Given the description of an element on the screen output the (x, y) to click on. 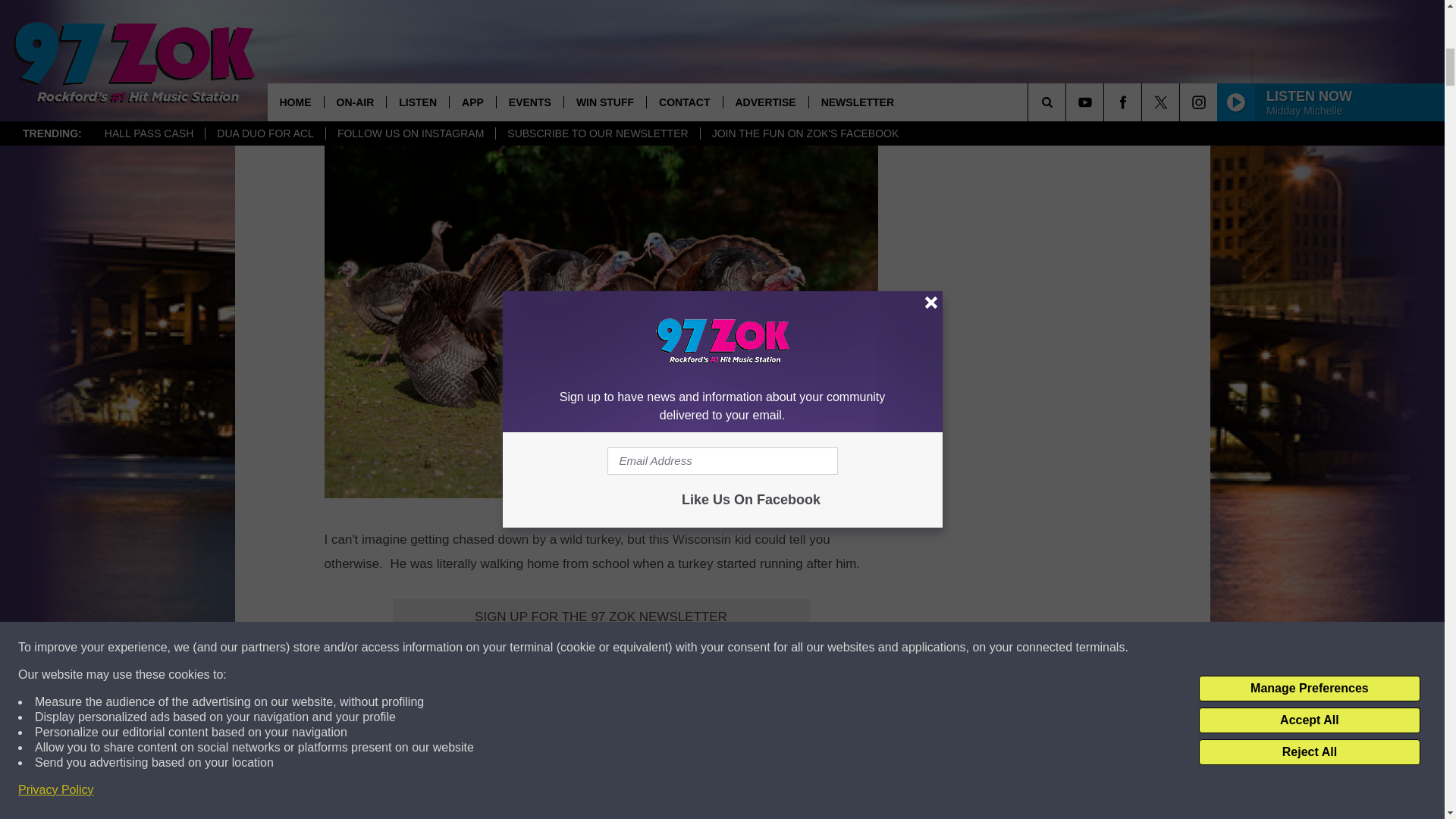
Email Address (600, 646)
